Given the description of an element on the screen output the (x, y) to click on. 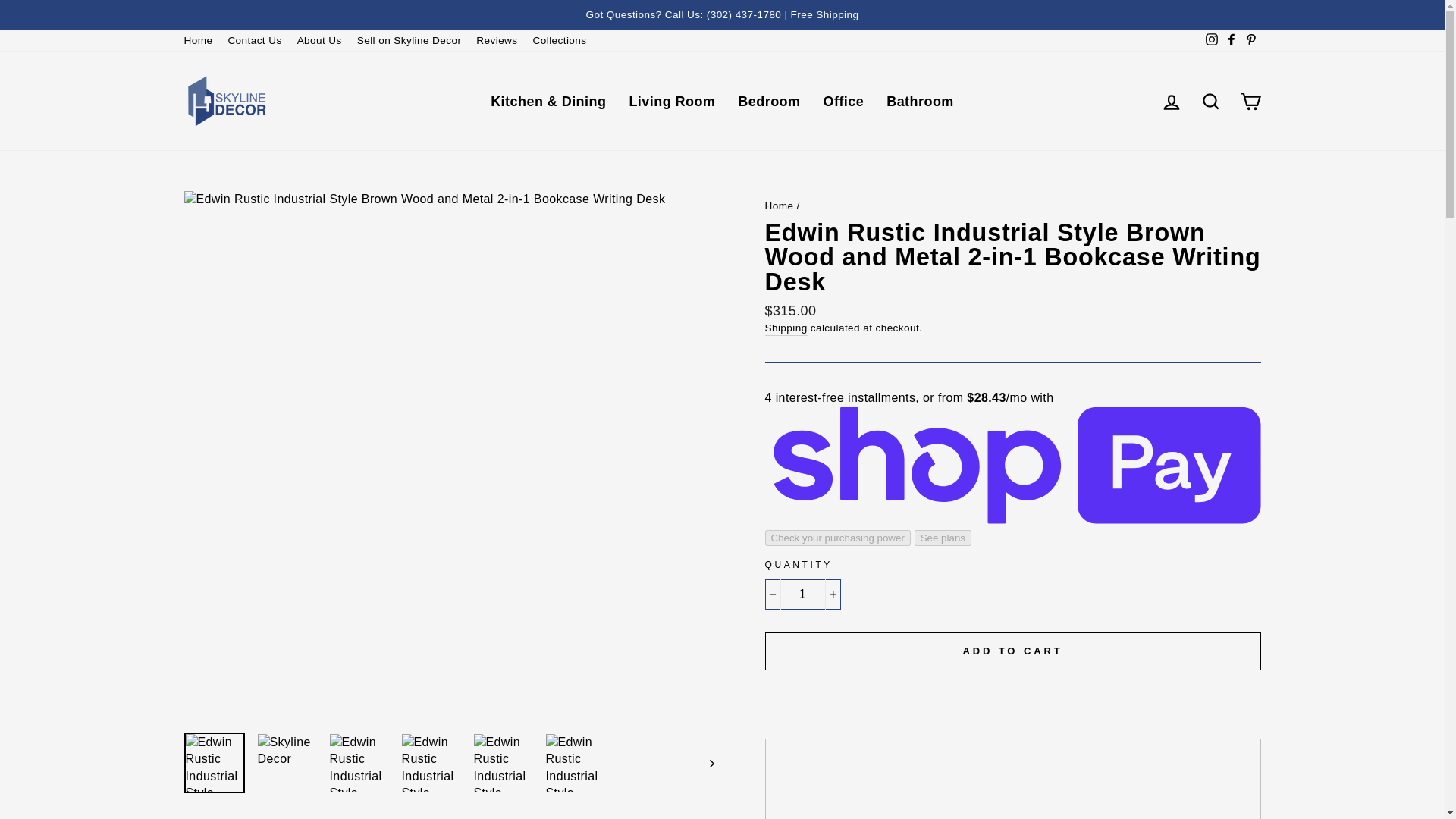
Reviews (496, 40)
About Us (319, 40)
Collections (559, 40)
Facebook (1230, 40)
Contact Us (253, 40)
SKYLINE DECOR on Instagram (1211, 40)
SKYLINE DECOR on Facebook (1230, 40)
Back to the frontpage (778, 205)
Sell on Skyline Decor (408, 40)
Home (197, 40)
SKYLINE DECOR on Pinterest (1250, 40)
1 (802, 594)
Instagram (1211, 40)
